Given the description of an element on the screen output the (x, y) to click on. 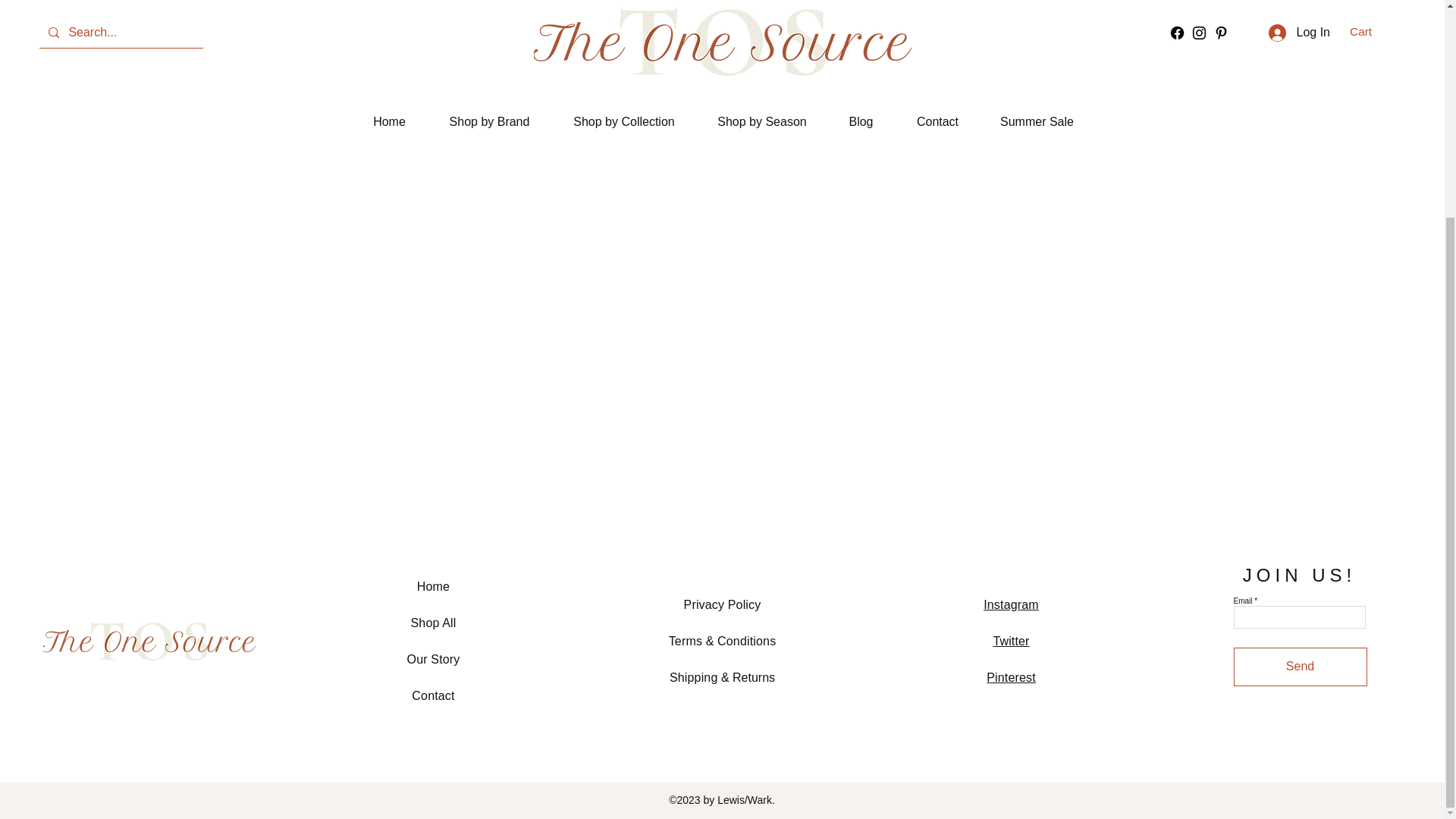
Twitter (1010, 640)
Pinterest (1011, 676)
Instagram (1011, 604)
Contact (433, 695)
Shop All (433, 622)
Privacy Policy (722, 604)
Send (1300, 666)
Continue Shopping (721, 17)
Home (432, 585)
Our Story (433, 658)
